Given the description of an element on the screen output the (x, y) to click on. 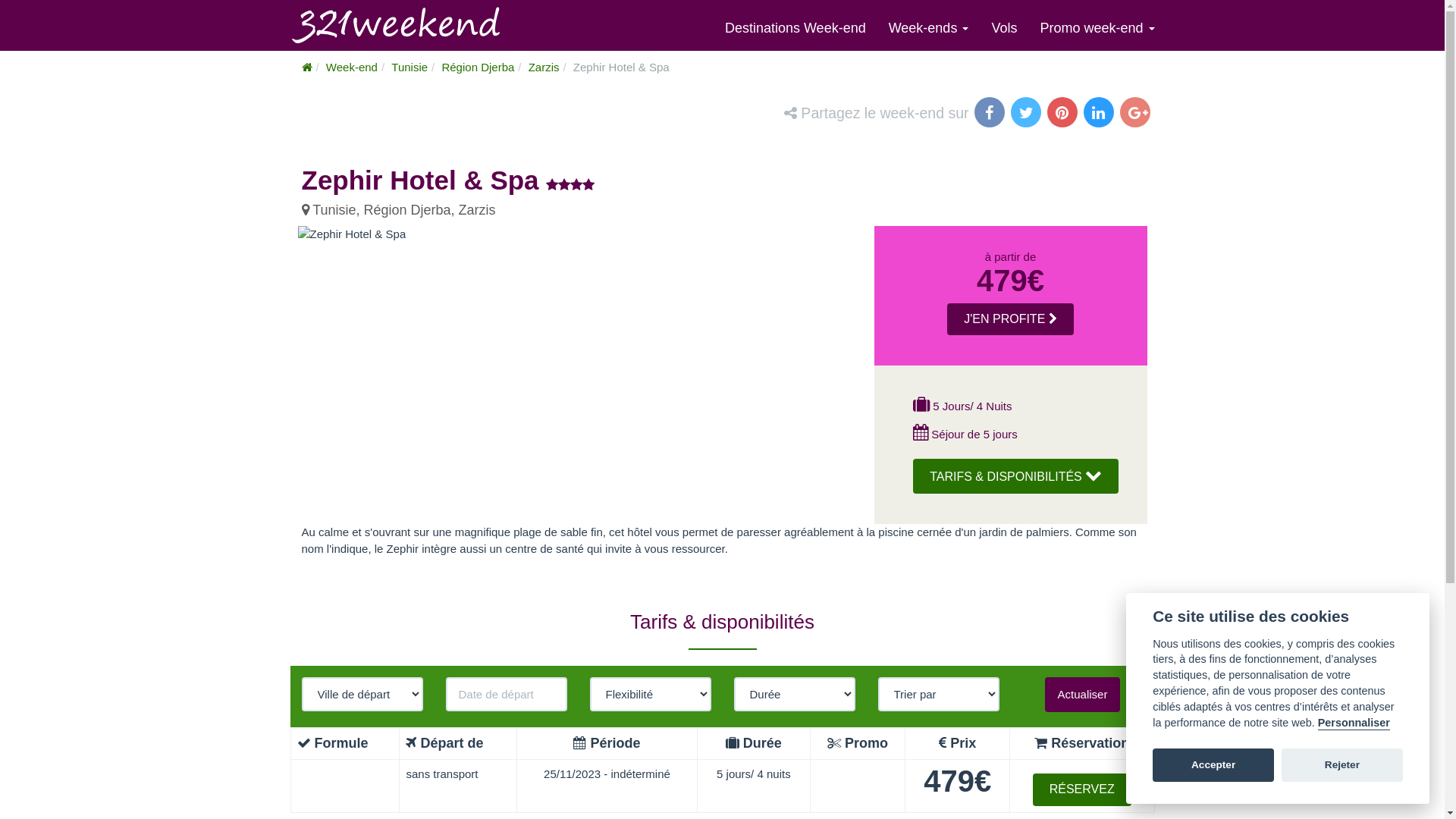
J'EN PROFITE Element type: text (1010, 319)
Accepter Element type: text (1213, 764)
Promo week-end
Promo week-end Element type: text (1096, 27)
Personnaliser Element type: text (1353, 723)
Actualiser Element type: text (1082, 694)
Partager sur Google Plus Element type: hover (1135, 113)
Zarzis Element type: text (543, 66)
Destinations Week-end Element type: text (795, 27)
Week-ends
Week-ends Element type: text (928, 27)
321Weekend Element type: hover (306, 66)
Tunisie Element type: text (409, 66)
Partager sur Facebook Element type: hover (990, 113)
Partager sur Pinterest Element type: hover (1062, 113)
Partager sur Linkedin Element type: hover (1099, 113)
Partager sur Twitter Element type: hover (1026, 113)
Rejeter Element type: text (1341, 764)
Week-end Element type: text (351, 66)
Vols Element type: text (1003, 27)
Zephir Hotel & Spa Element type: hover (351, 233)
